Given the description of an element on the screen output the (x, y) to click on. 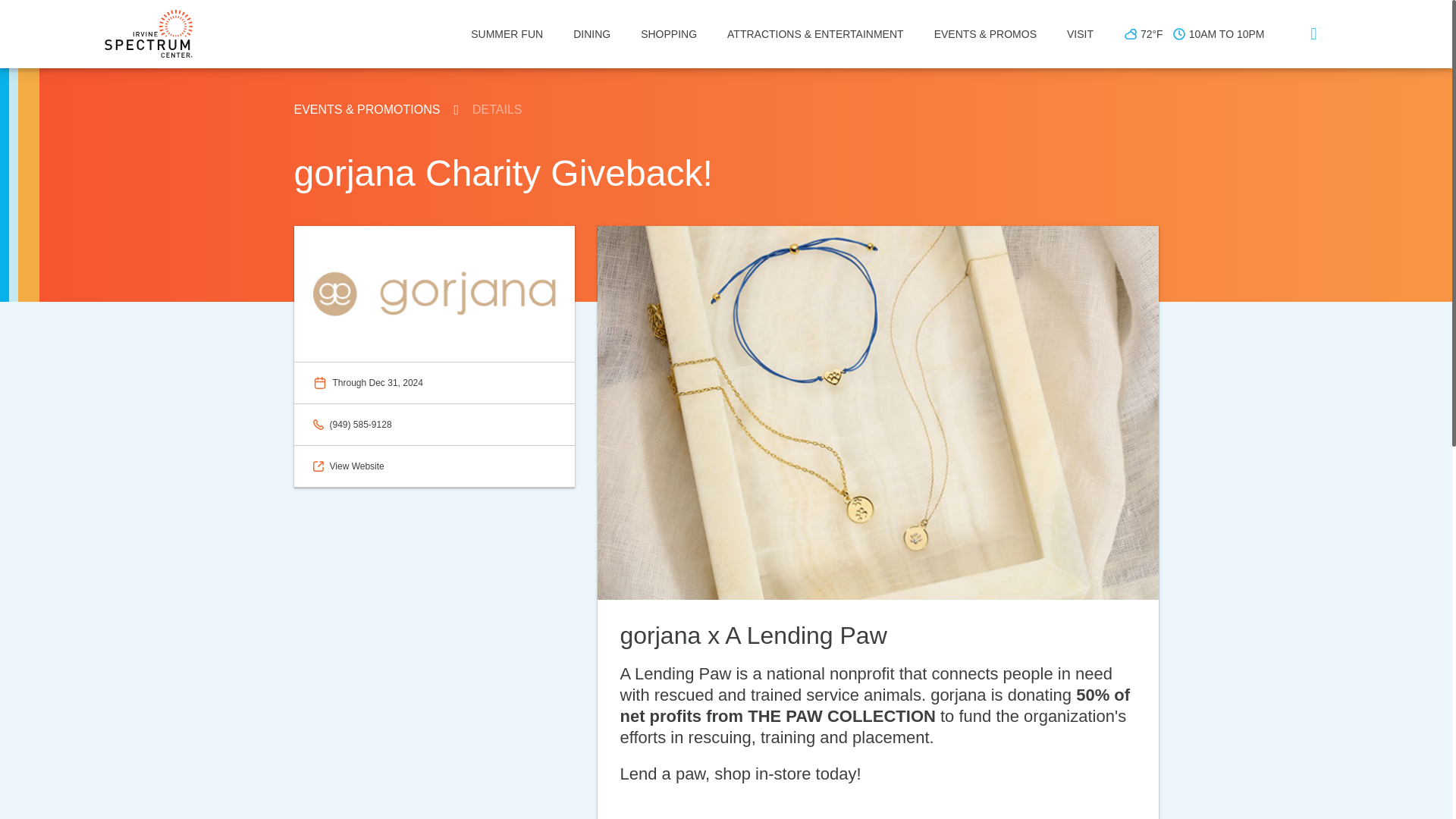
Dining (591, 33)
View Summer Events (506, 33)
DINING (591, 33)
SUMMER FUN (506, 33)
Shopping (668, 33)
SHOPPING (668, 33)
Entertainment (814, 33)
